Given the description of an element on the screen output the (x, y) to click on. 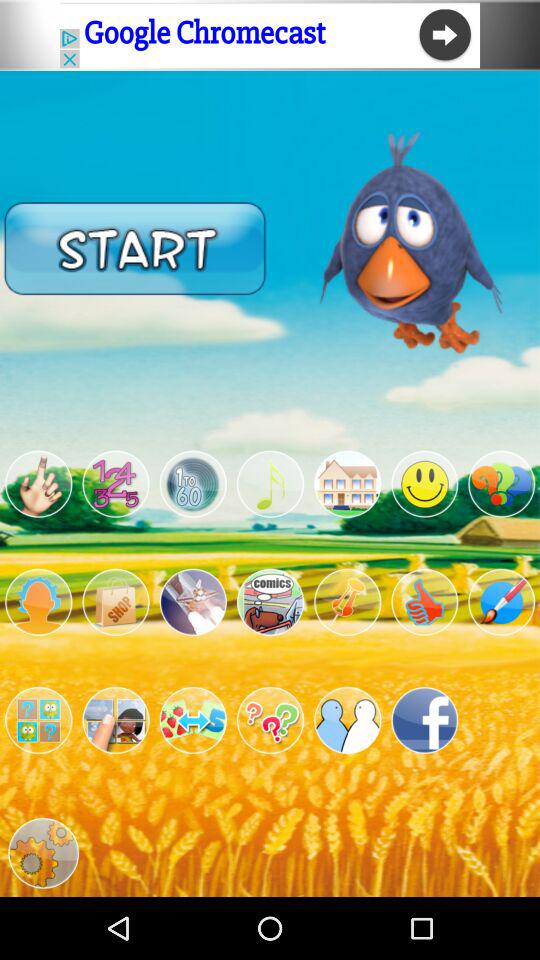
click to start (135, 247)
